Given the description of an element on the screen output the (x, y) to click on. 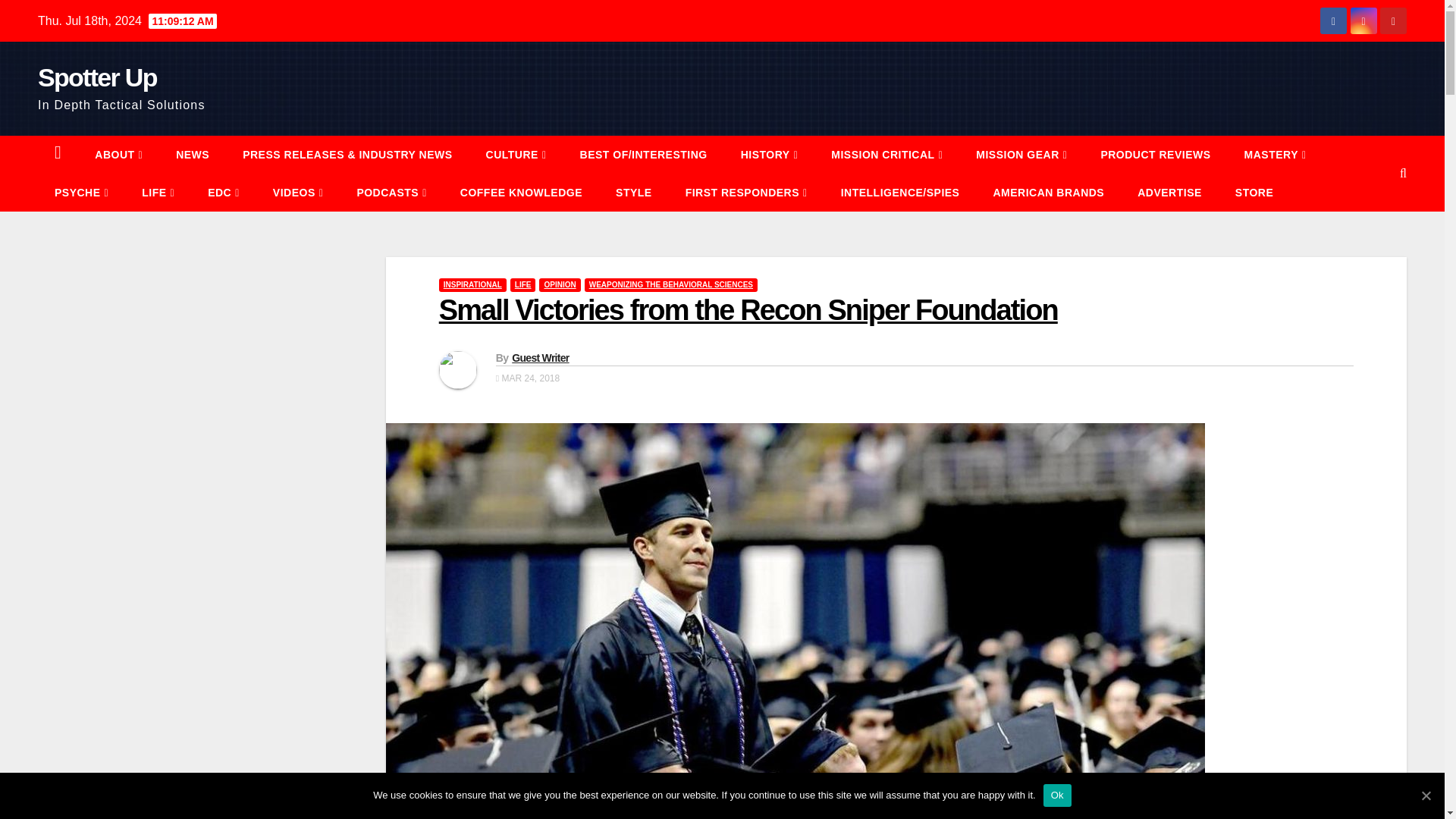
Spotter Up (97, 77)
ABOUT (118, 154)
CULTURE (515, 154)
NEWS (191, 154)
HISTORY (769, 154)
MISSION CRITICAL (886, 154)
